Given the description of an element on the screen output the (x, y) to click on. 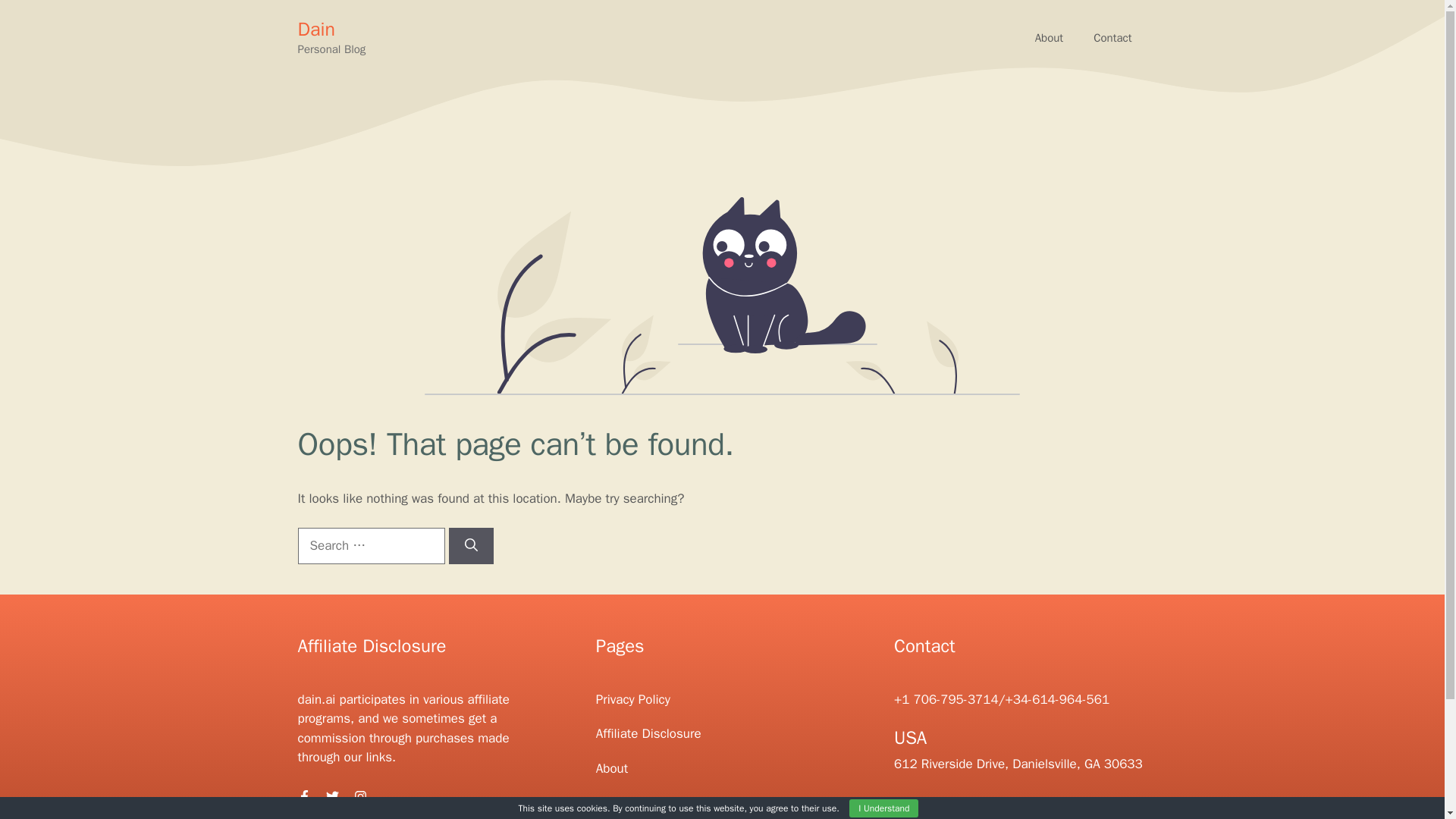
Affiliate Disclosure (648, 733)
Contact (617, 802)
Contact (1112, 37)
About (1049, 37)
About (611, 768)
I Understand (883, 808)
Privacy Policy (632, 699)
Dain (315, 28)
Search for: (370, 545)
Contact (1112, 37)
